Given the description of an element on the screen output the (x, y) to click on. 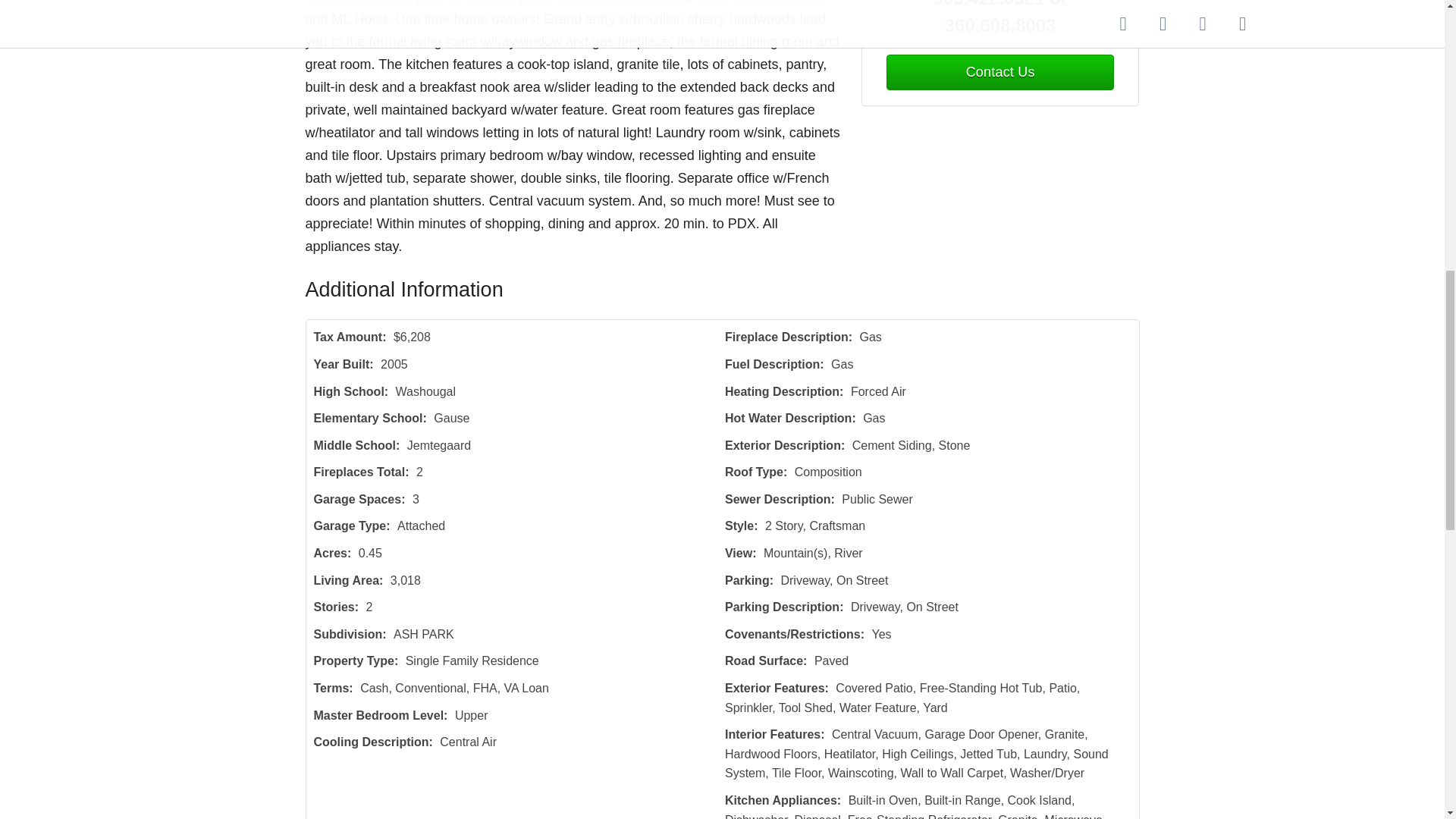
Contact Us (999, 72)
503.422.6321 or 360.608.8003 (1000, 19)
